Given the description of an element on the screen output the (x, y) to click on. 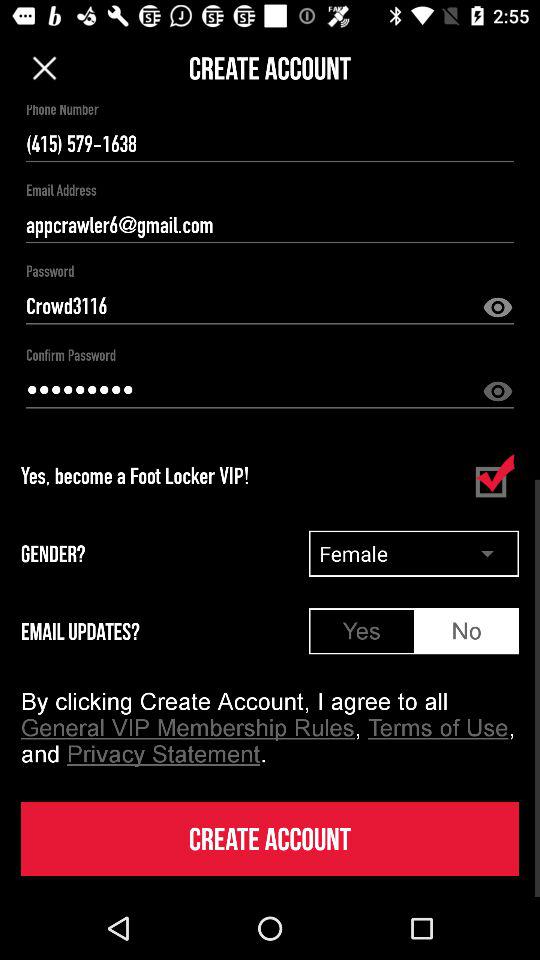
show the password (498, 392)
